Given the description of an element on the screen output the (x, y) to click on. 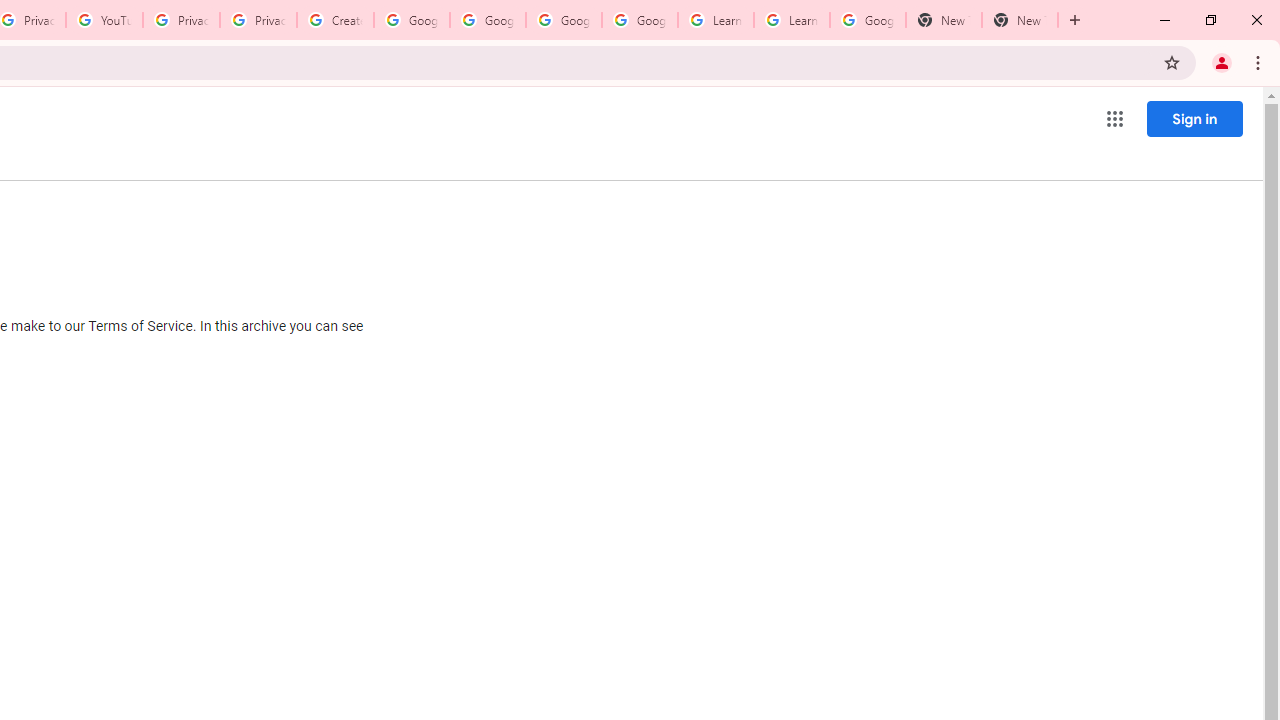
Google Account Help (563, 20)
